Given the description of an element on the screen output the (x, y) to click on. 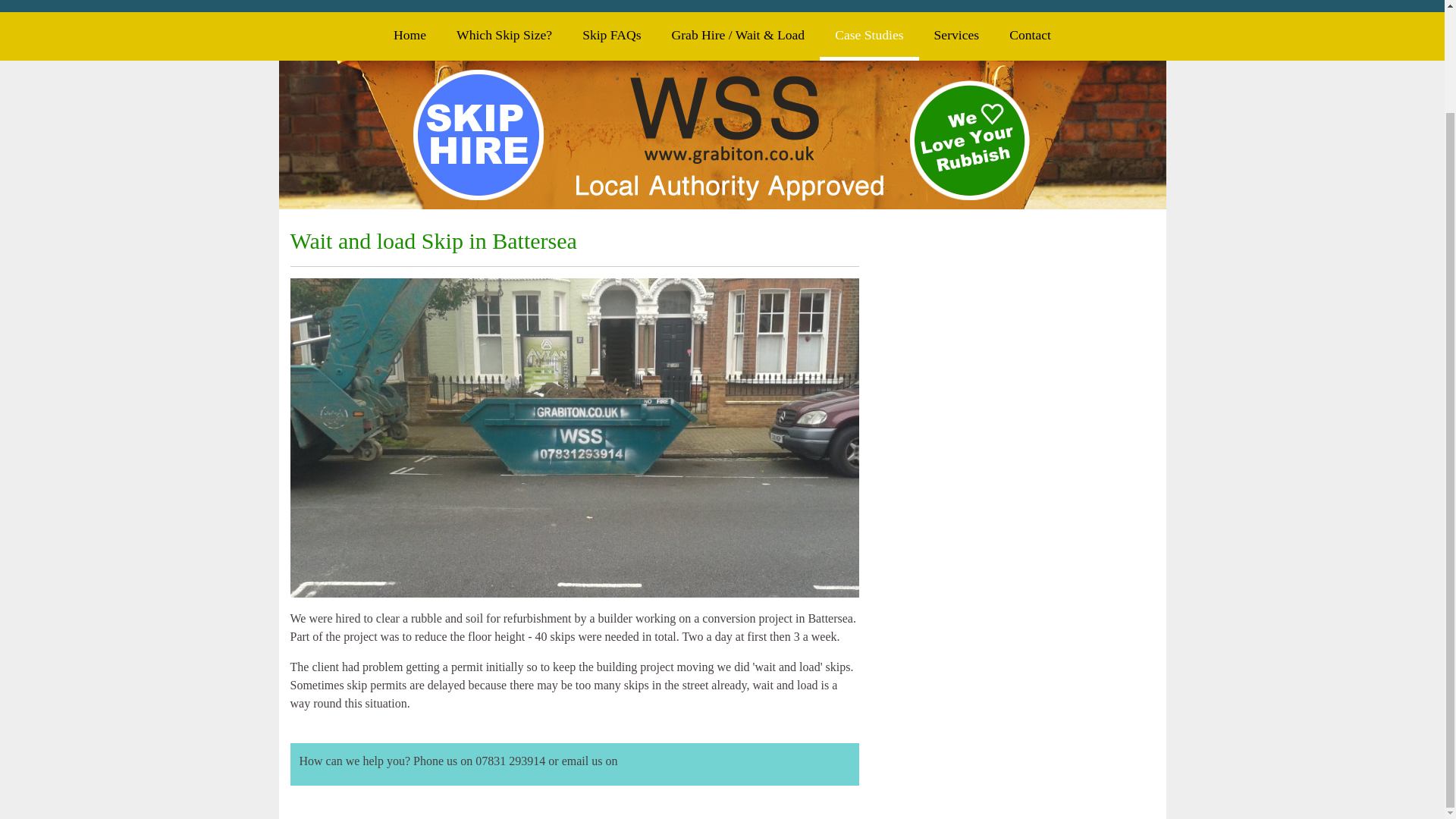
Skip FAQs (611, 34)
Which Skip Size? (504, 34)
Contact (1029, 34)
Case Studies (868, 36)
Services (956, 34)
Home (409, 34)
